Given the description of an element on the screen output the (x, y) to click on. 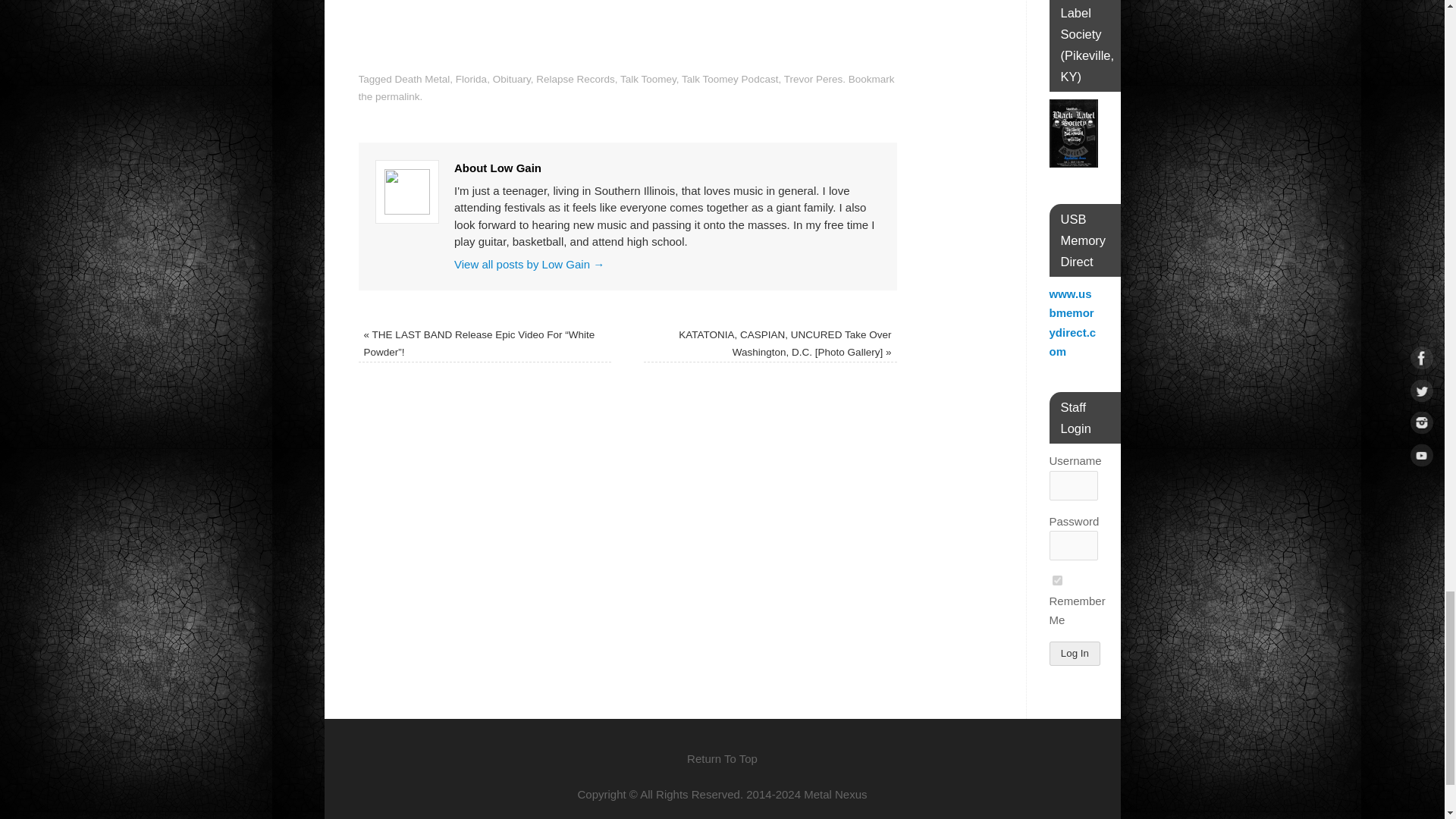
forever (1057, 580)
Relapse Records (574, 79)
permalink (397, 96)
Obituary (512, 79)
Talk Toomey (648, 79)
Talk Toomey Podcast (729, 79)
YouTube player (627, 27)
Log In (1074, 653)
Trevor Peres (813, 79)
Florida (470, 79)
